Given the description of an element on the screen output the (x, y) to click on. 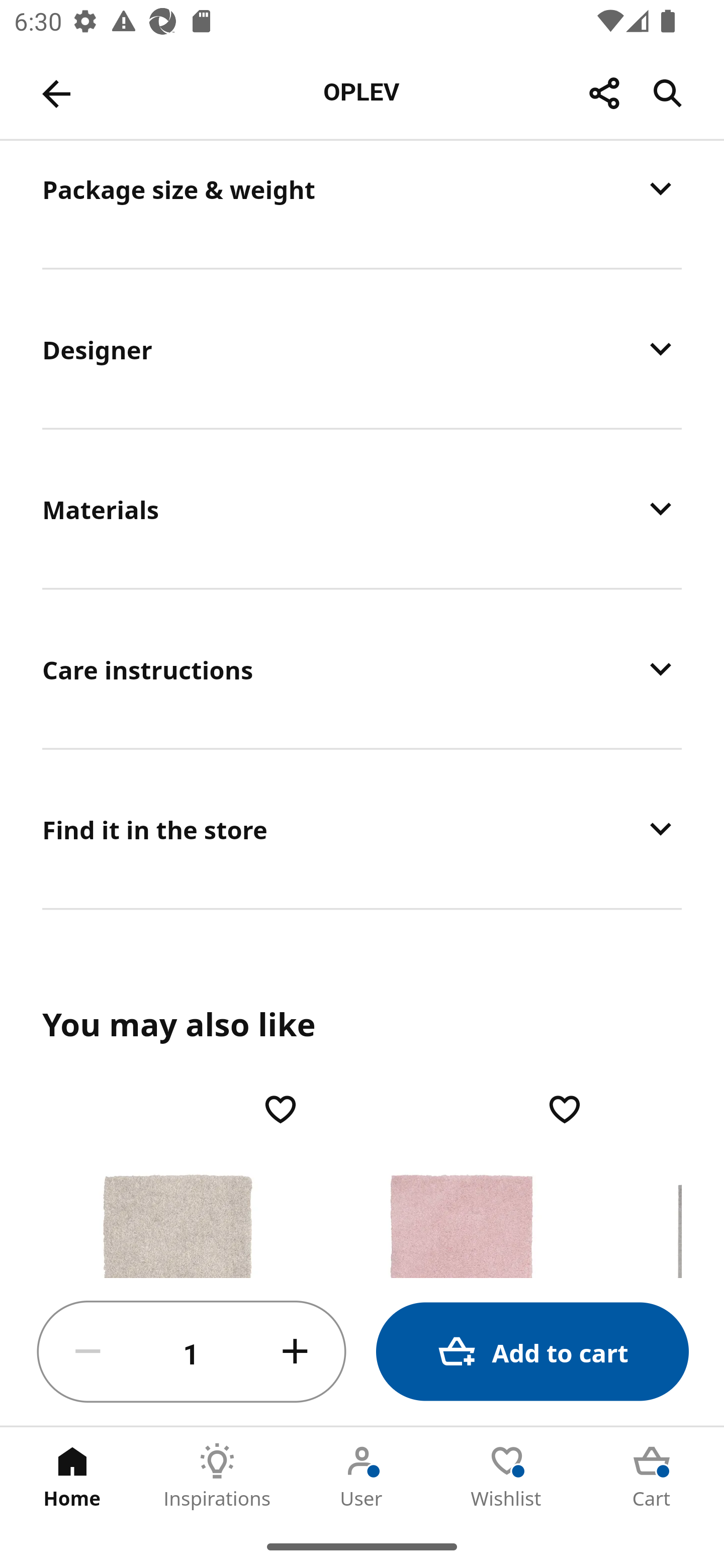
Package size & weight (361, 203)
Designer (361, 348)
Materials (361, 508)
Care instructions (361, 668)
Find it in the store (361, 828)
Add to cart (531, 1352)
1 (191, 1352)
Home
Tab 1 of 5 (72, 1476)
Inspirations
Tab 2 of 5 (216, 1476)
User
Tab 3 of 5 (361, 1476)
Wishlist
Tab 4 of 5 (506, 1476)
Cart
Tab 5 of 5 (651, 1476)
